Given the description of an element on the screen output the (x, y) to click on. 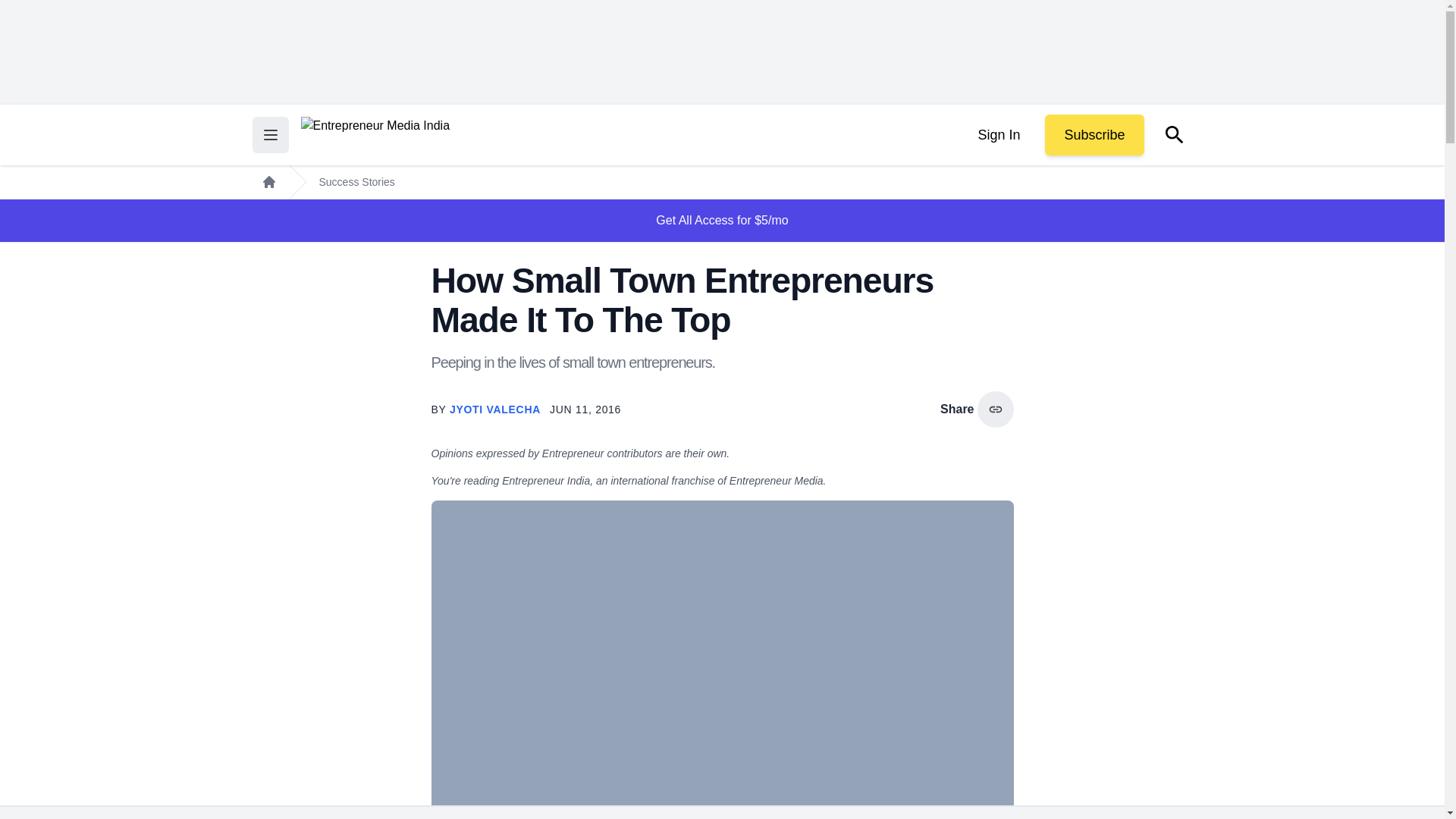
Return to the home page (374, 135)
Subscribe (1093, 134)
copy (994, 409)
Sign In (998, 134)
